Given the description of an element on the screen output the (x, y) to click on. 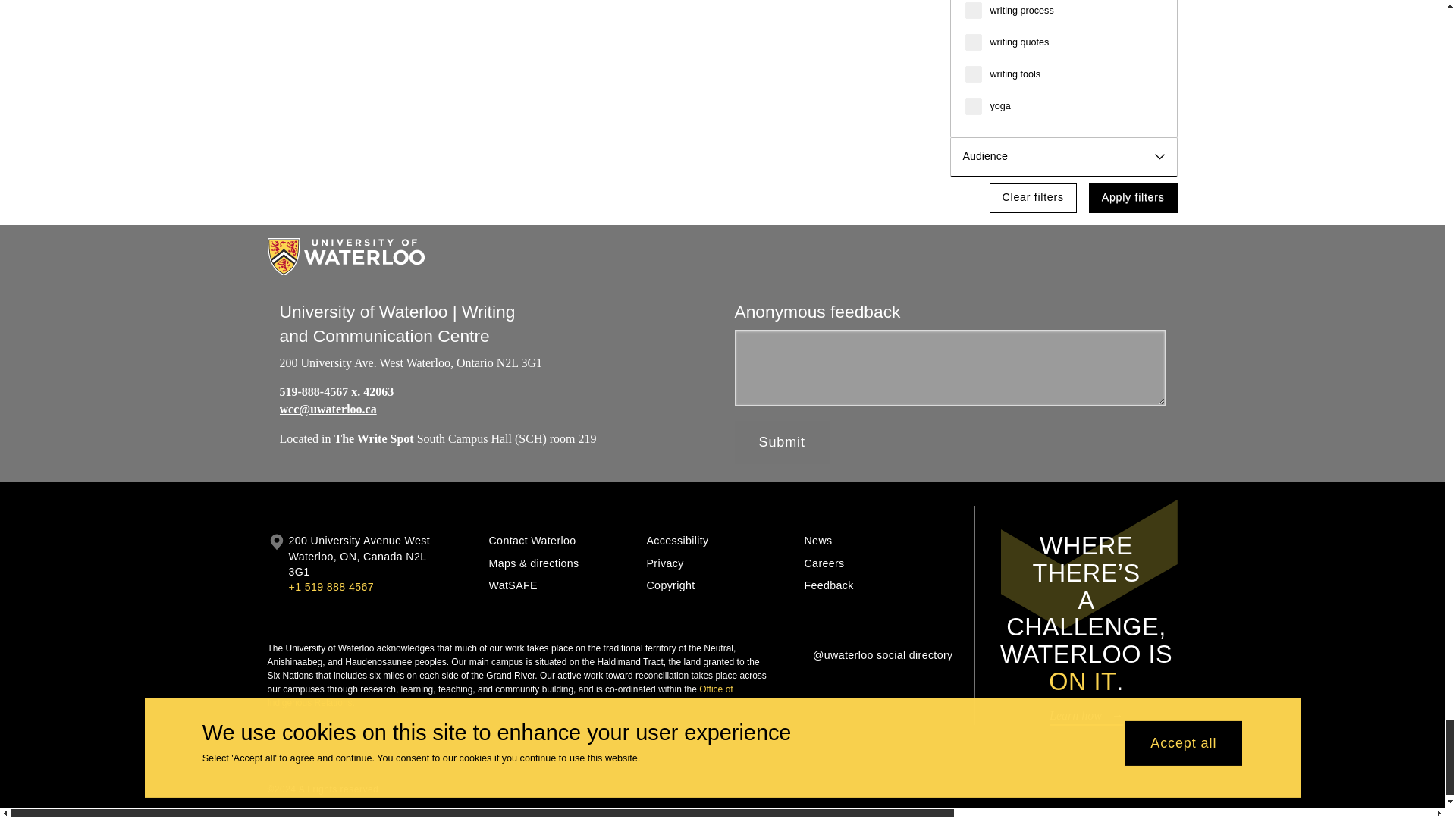
Apply filters (1133, 197)
Apply filters (1133, 197)
Submit (780, 442)
Clear filters (1033, 197)
Clear filters (1033, 197)
